Given the description of an element on the screen output the (x, y) to click on. 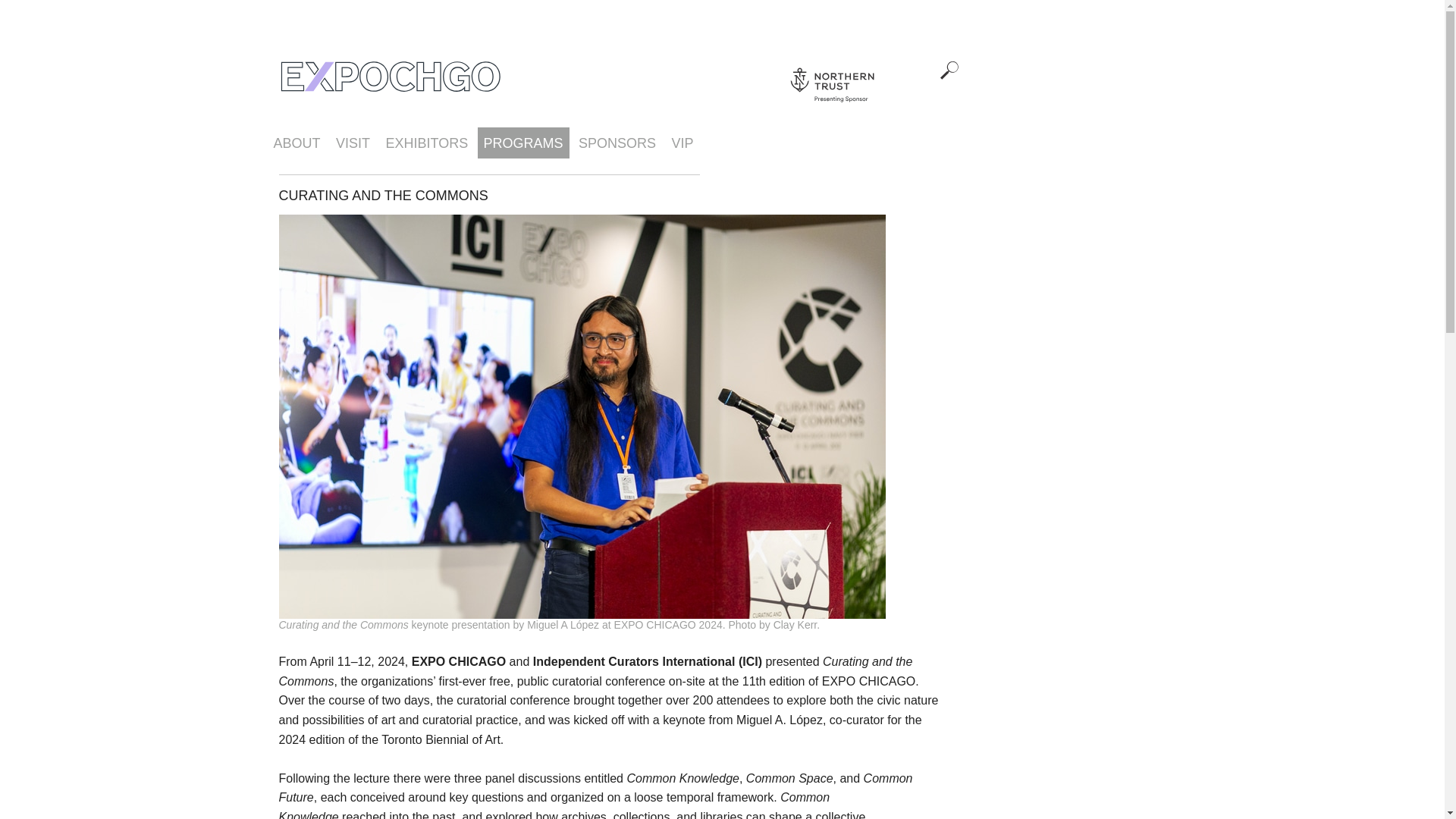
ABOUT (296, 142)
VIP (682, 142)
EXHIBITORS (426, 142)
SPONSORS (617, 142)
VISIT (352, 142)
PROGRAMS (523, 142)
